Given the description of an element on the screen output the (x, y) to click on. 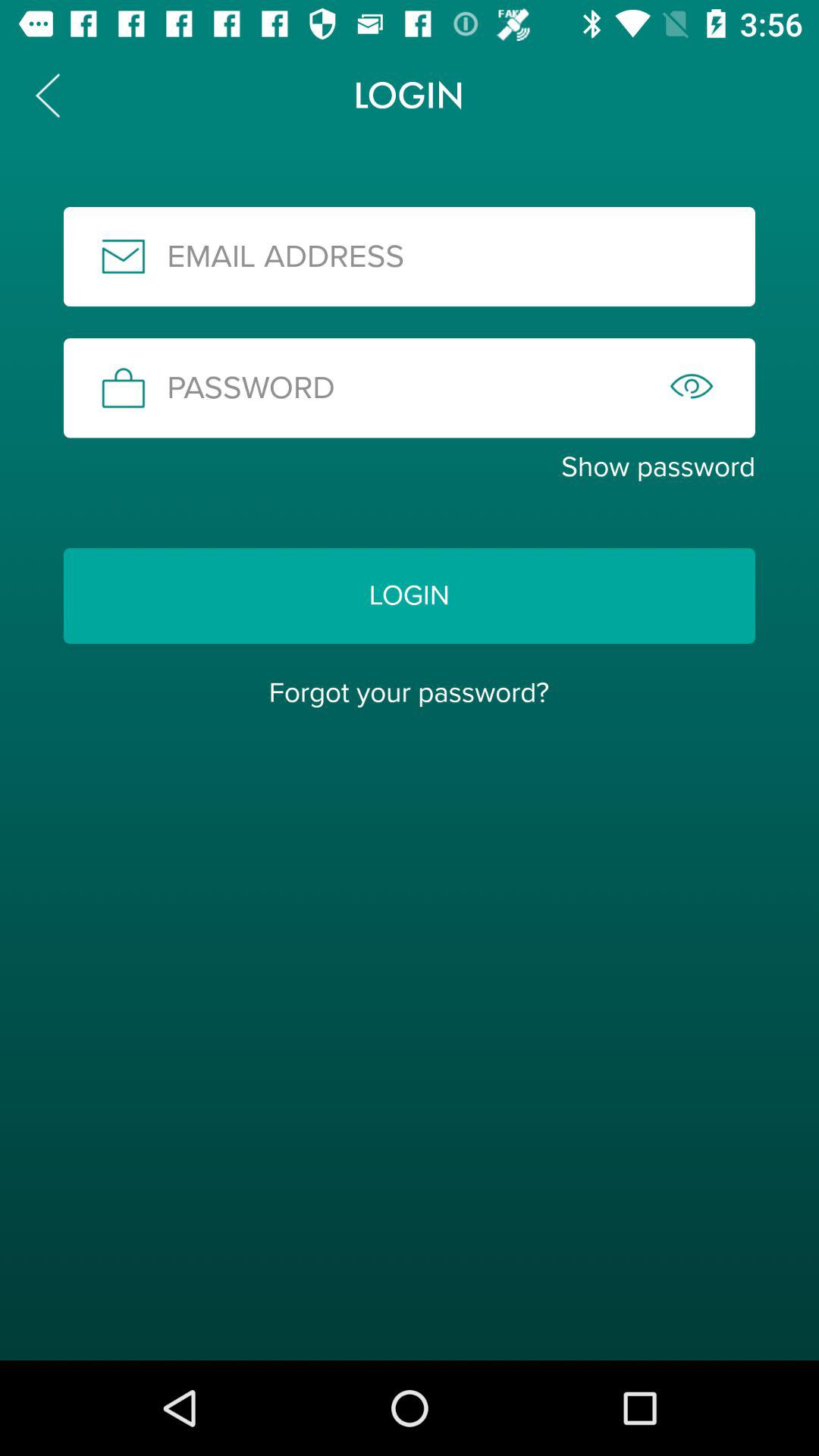
email address text box (409, 256)
